Given the description of an element on the screen output the (x, y) to click on. 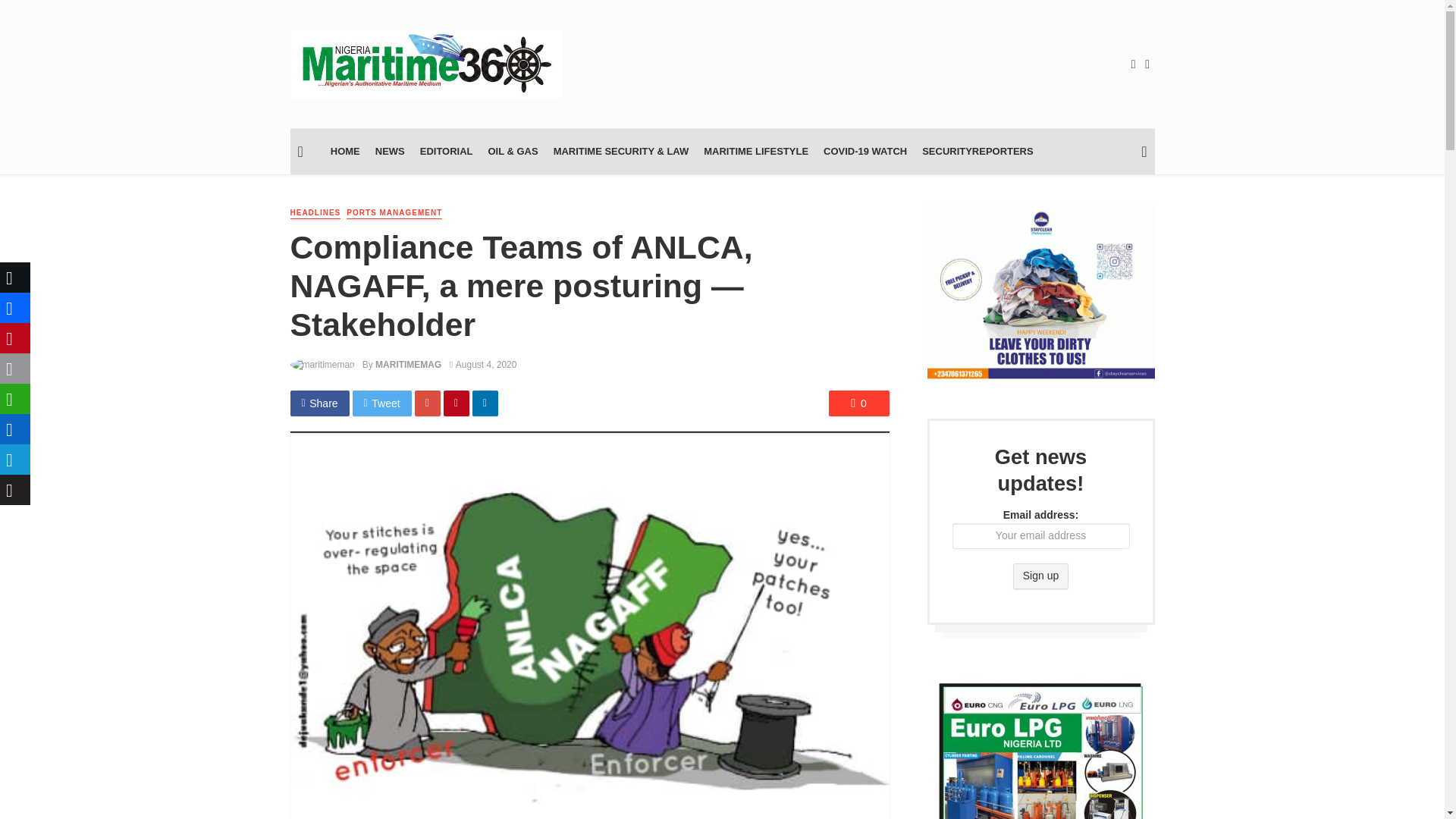
HOME (345, 151)
Tweet (382, 403)
PORTS MANAGEMENT (394, 213)
0 (858, 403)
MARITIMEMAG (408, 364)
EDITORIAL (446, 151)
Sign up (1040, 575)
Share (319, 403)
Share on Facebook (319, 403)
HEADLINES (314, 213)
